Given the description of an element on the screen output the (x, y) to click on. 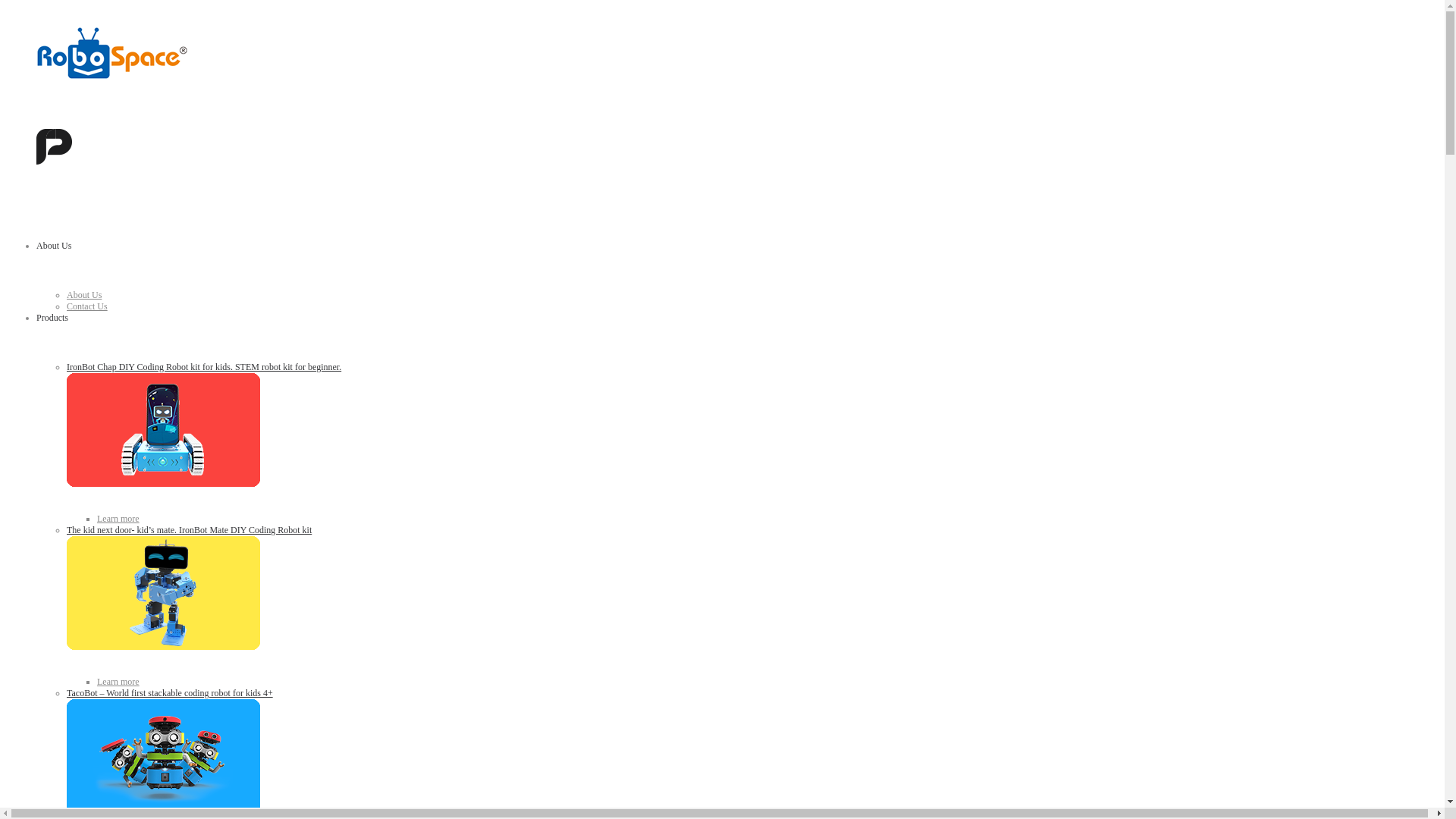
Products Element type: text (52, 317)
About Us Element type: text (53, 245)
Learn more Element type: text (118, 518)
About Us Element type: text (83, 294)
Contact Us Element type: text (86, 306)
Learn more Element type: text (118, 681)
